Given the description of an element on the screen output the (x, y) to click on. 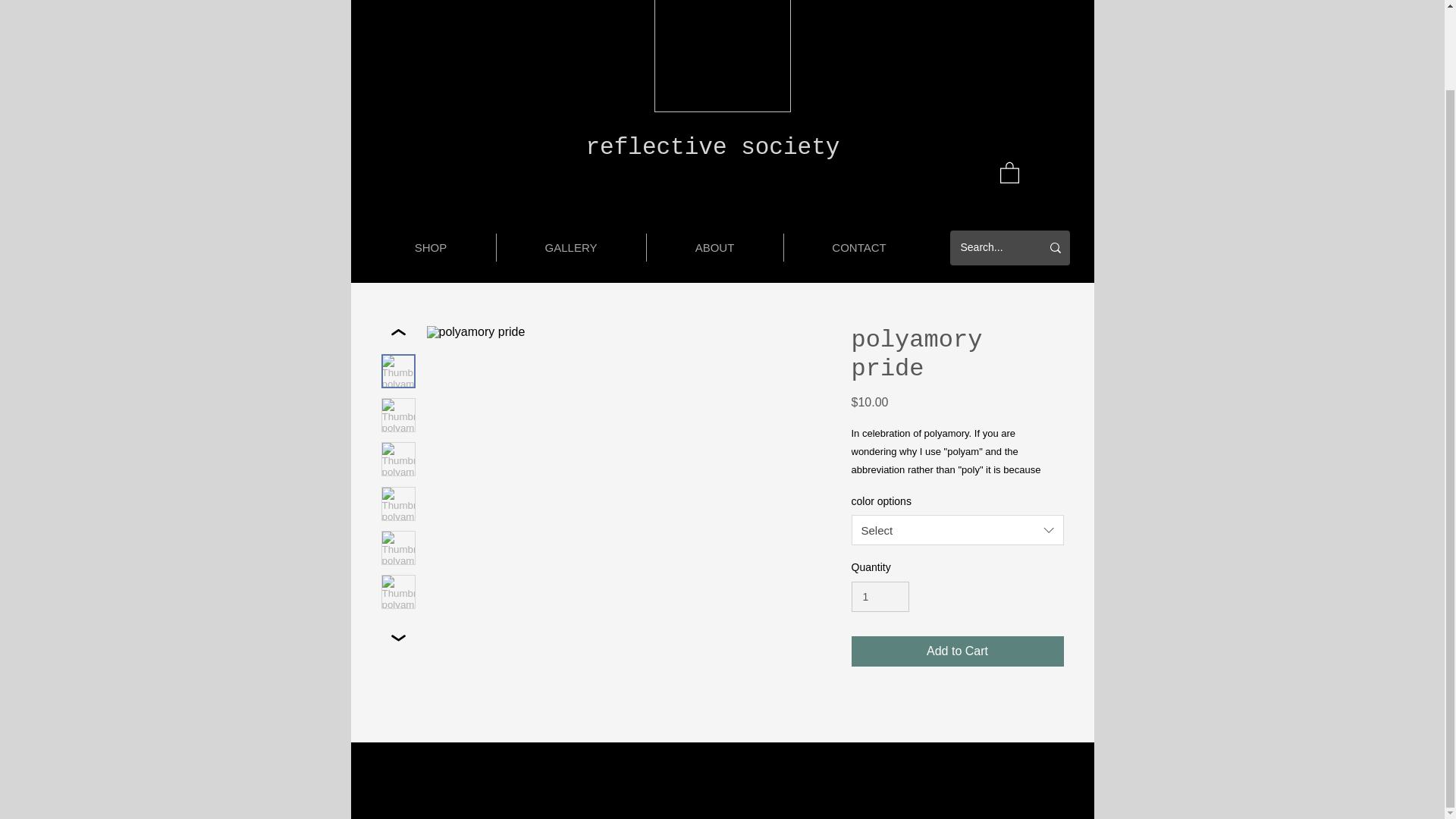
Select (956, 530)
GALLERY (570, 247)
Pin to Pinterest (451, 660)
ABOUT (714, 247)
Add to Cart (956, 651)
CONTACT (859, 247)
1 (879, 596)
SHOP (430, 247)
